Given the description of an element on the screen output the (x, y) to click on. 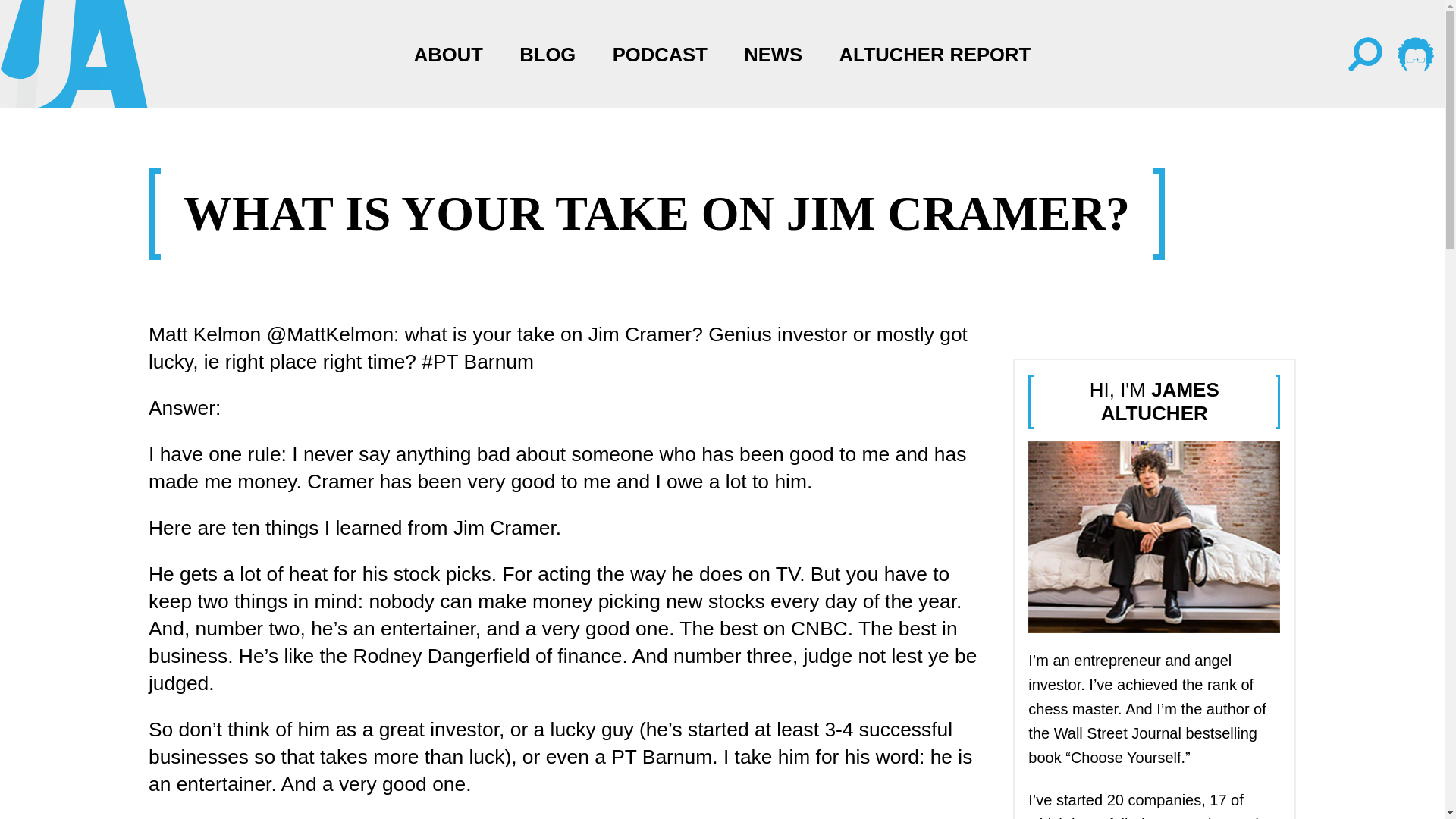
ALTUCHER REPORT (935, 53)
James Altucher (1153, 537)
Return Home (144, 55)
NEWS (772, 53)
ABOUT (448, 53)
BLOG (547, 53)
Search (1366, 52)
PODCAST (660, 53)
Altucher Report (1415, 52)
James Altucher (74, 53)
